Given the description of an element on the screen output the (x, y) to click on. 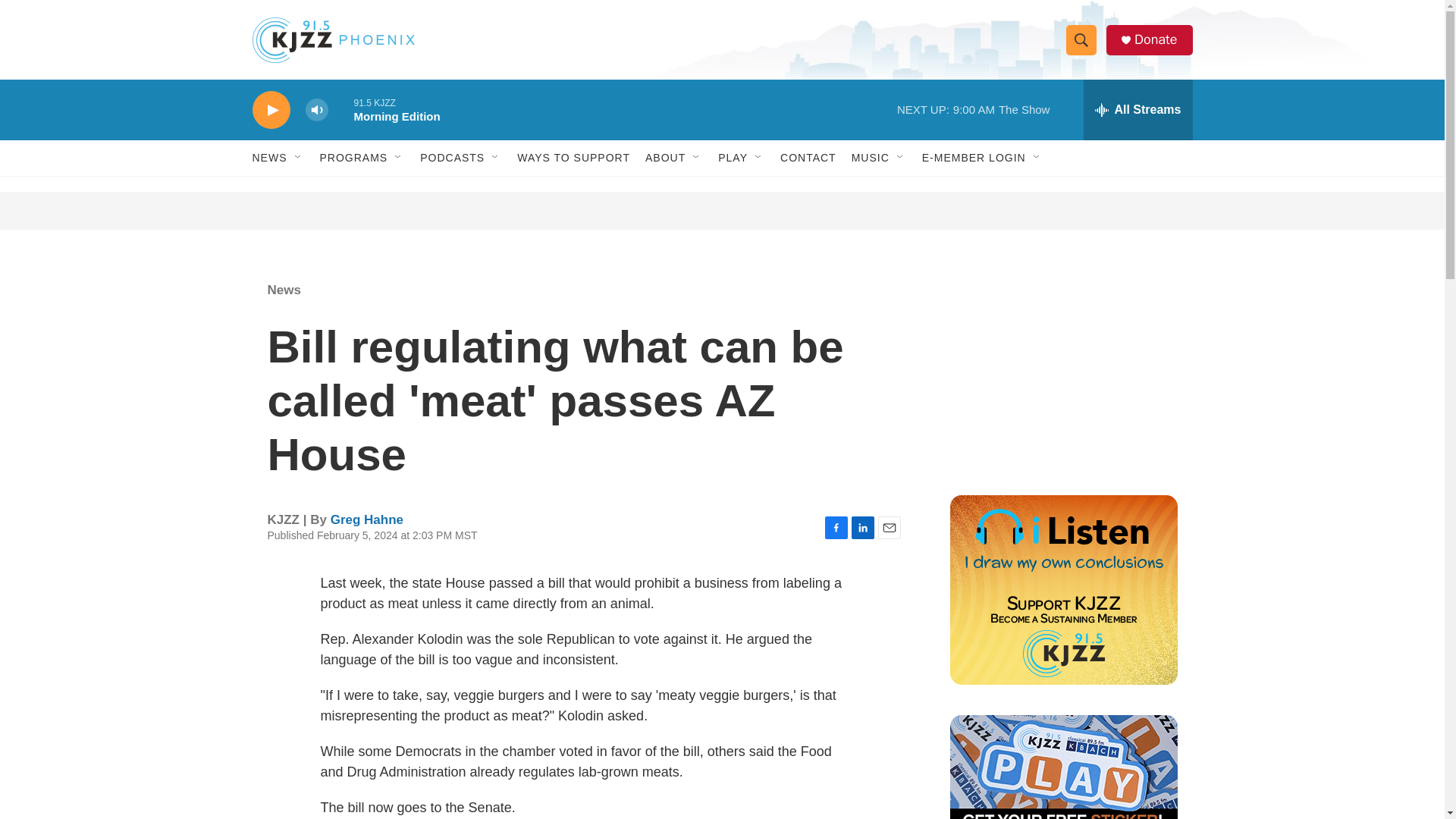
3rd party ad content (1062, 370)
3rd party ad content (722, 210)
